Given the description of an element on the screen output the (x, y) to click on. 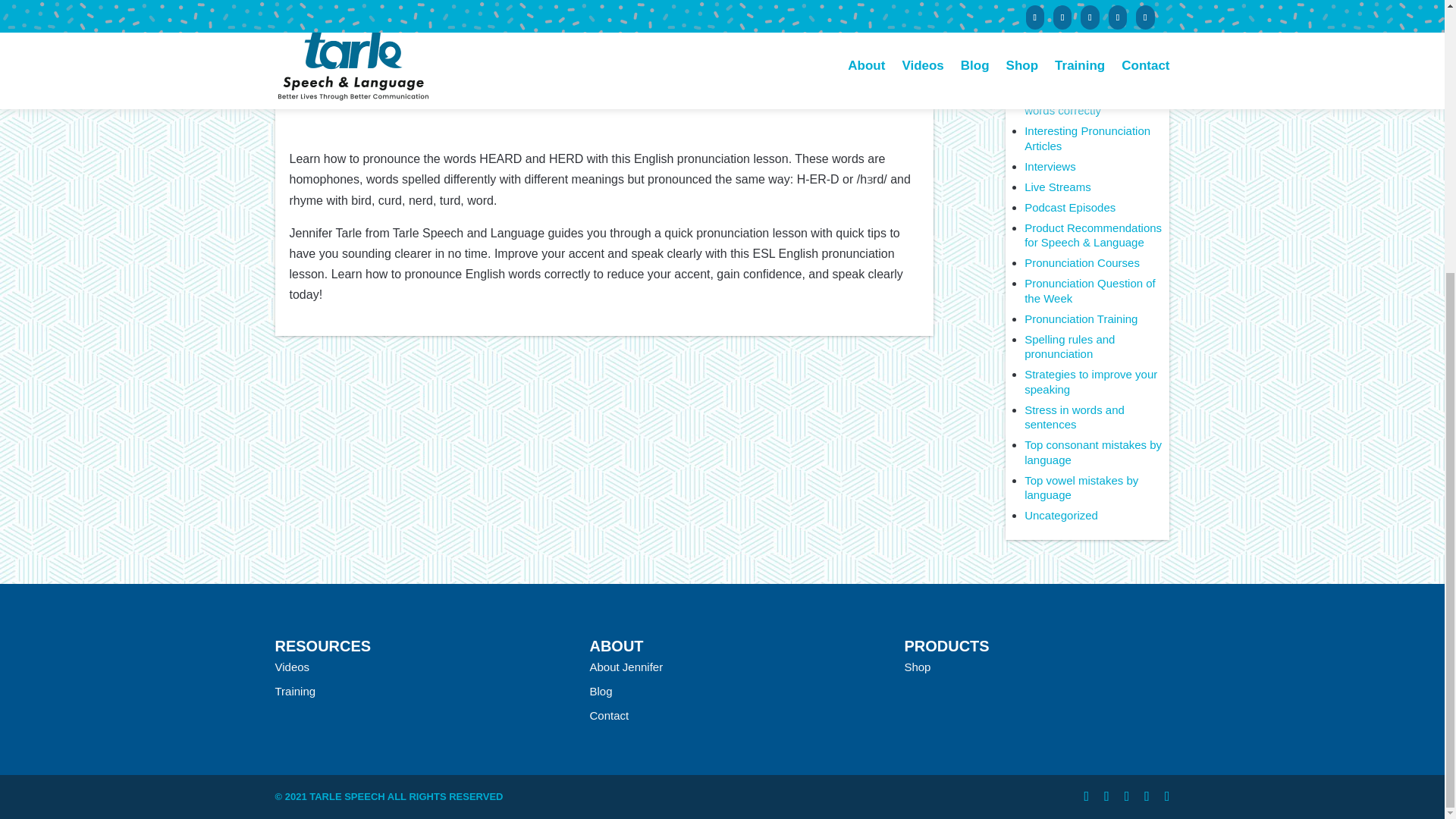
Spelling rules and pronunciation (1070, 346)
Podcast Episodes (1070, 206)
Pronunciation Training (1081, 318)
Pronunciation Courses (1082, 262)
Interviews (1050, 165)
Top consonant mistakes by language (1093, 452)
Frequently Mispronounced Words (1091, 5)
Homophone Pronunciation Lessons (1091, 67)
Heteronym Pronunciation Lessons (1089, 32)
Live Streams (1057, 186)
